Given the description of an element on the screen output the (x, y) to click on. 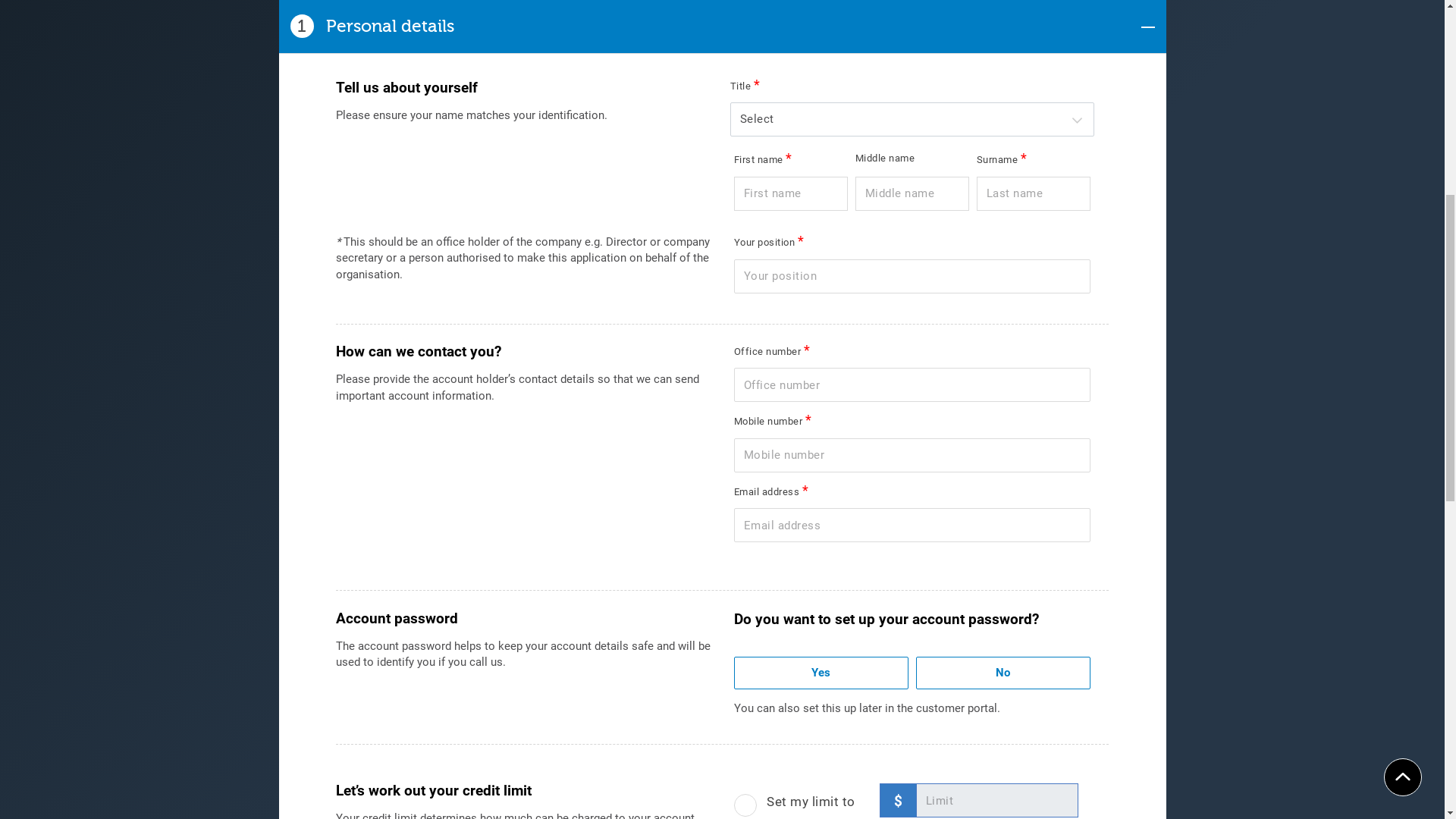
1 Personal details Element type: text (722, 517)
